Given the description of an element on the screen output the (x, y) to click on. 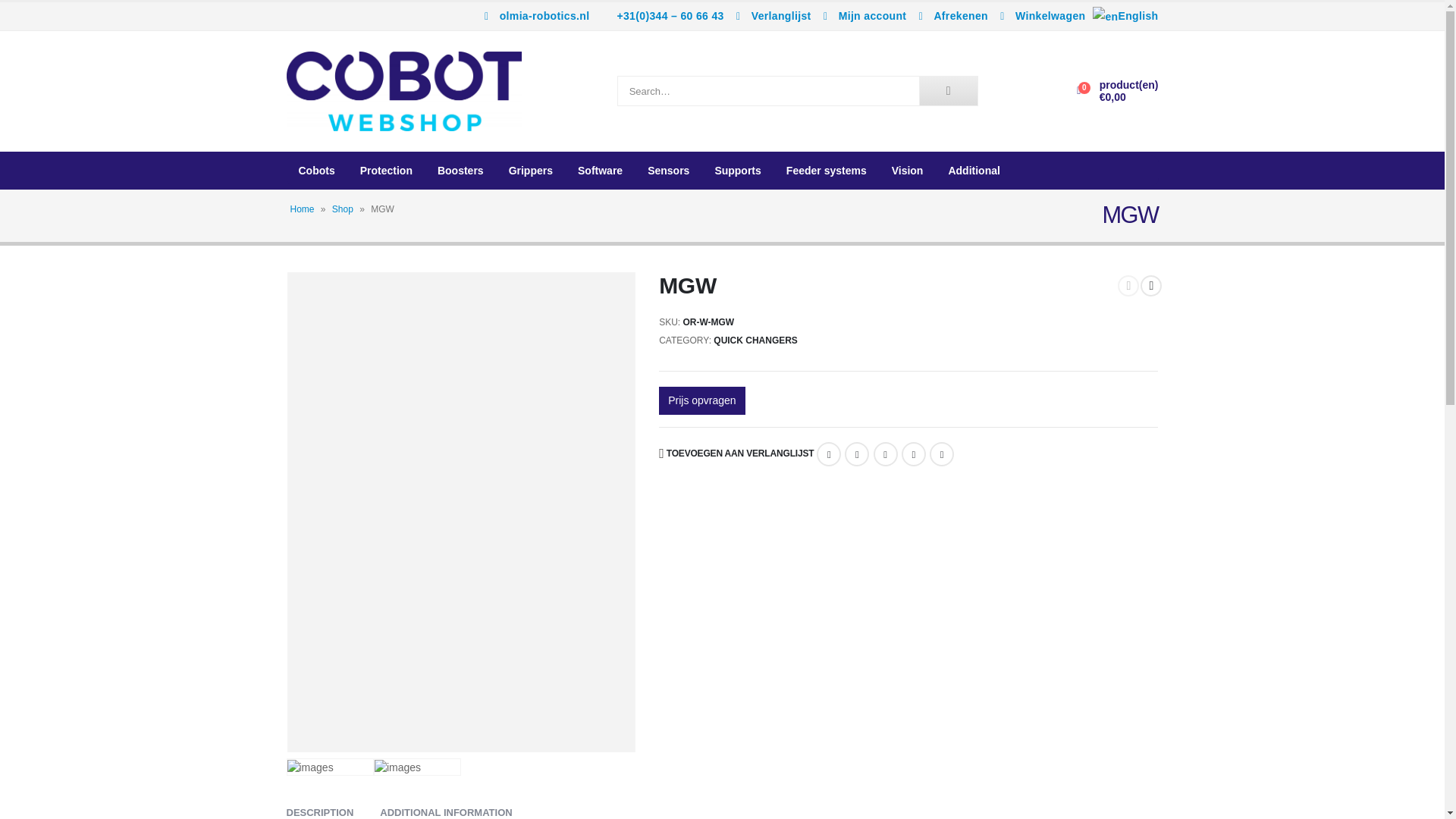
Email (941, 454)
Mijn account (863, 15)
Twitter (856, 454)
Verlanglijst (771, 15)
Search (948, 90)
Cobotwebshop.com -  (403, 90)
Winkelwagen (1040, 15)
LinkedIn (885, 454)
olmia-robotics.nl (535, 15)
Afrekenen (950, 15)
